Given the description of an element on the screen output the (x, y) to click on. 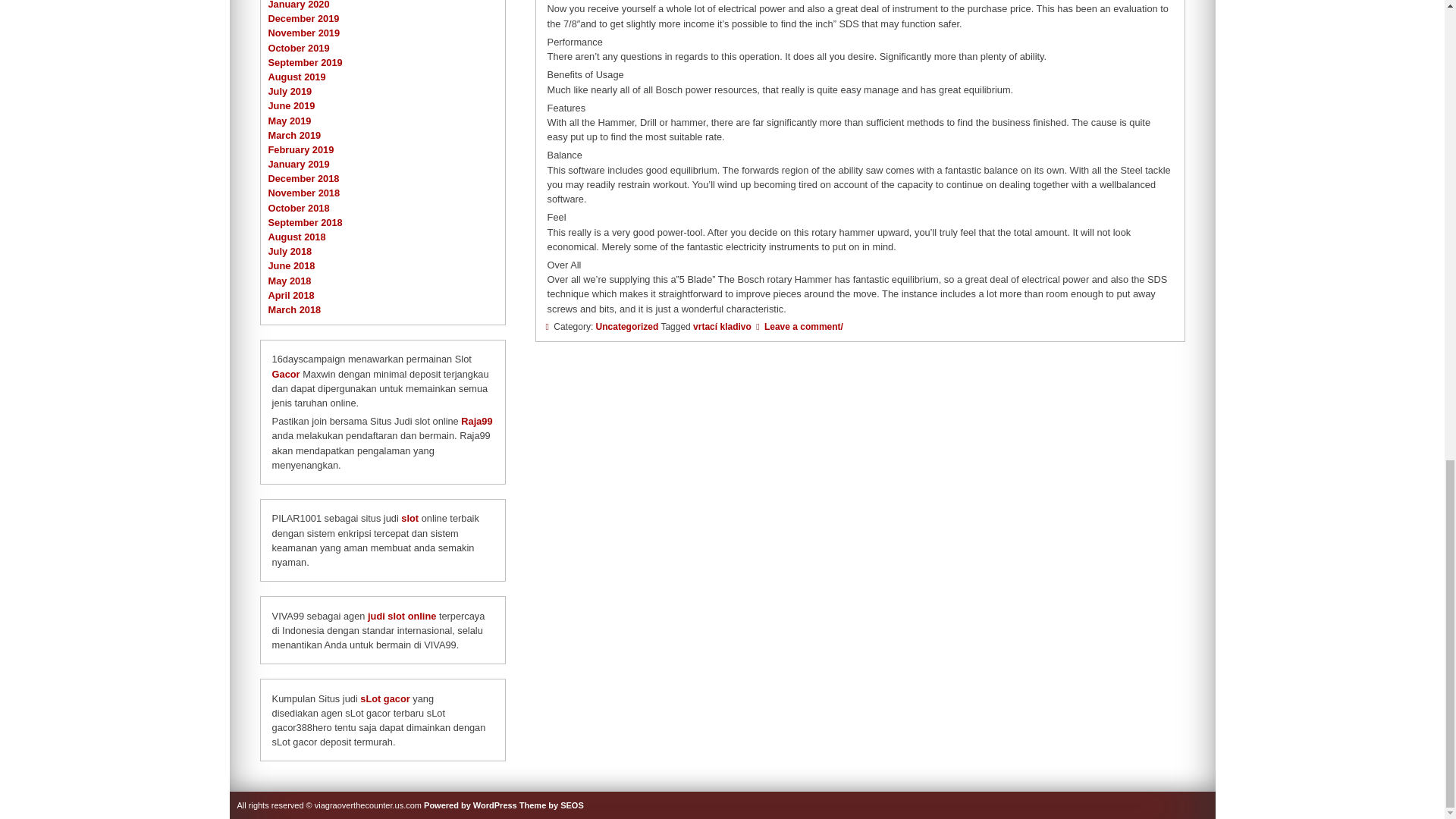
Uncategorized (627, 326)
Seos free wordpress themes (551, 804)
